Given the description of an element on the screen output the (x, y) to click on. 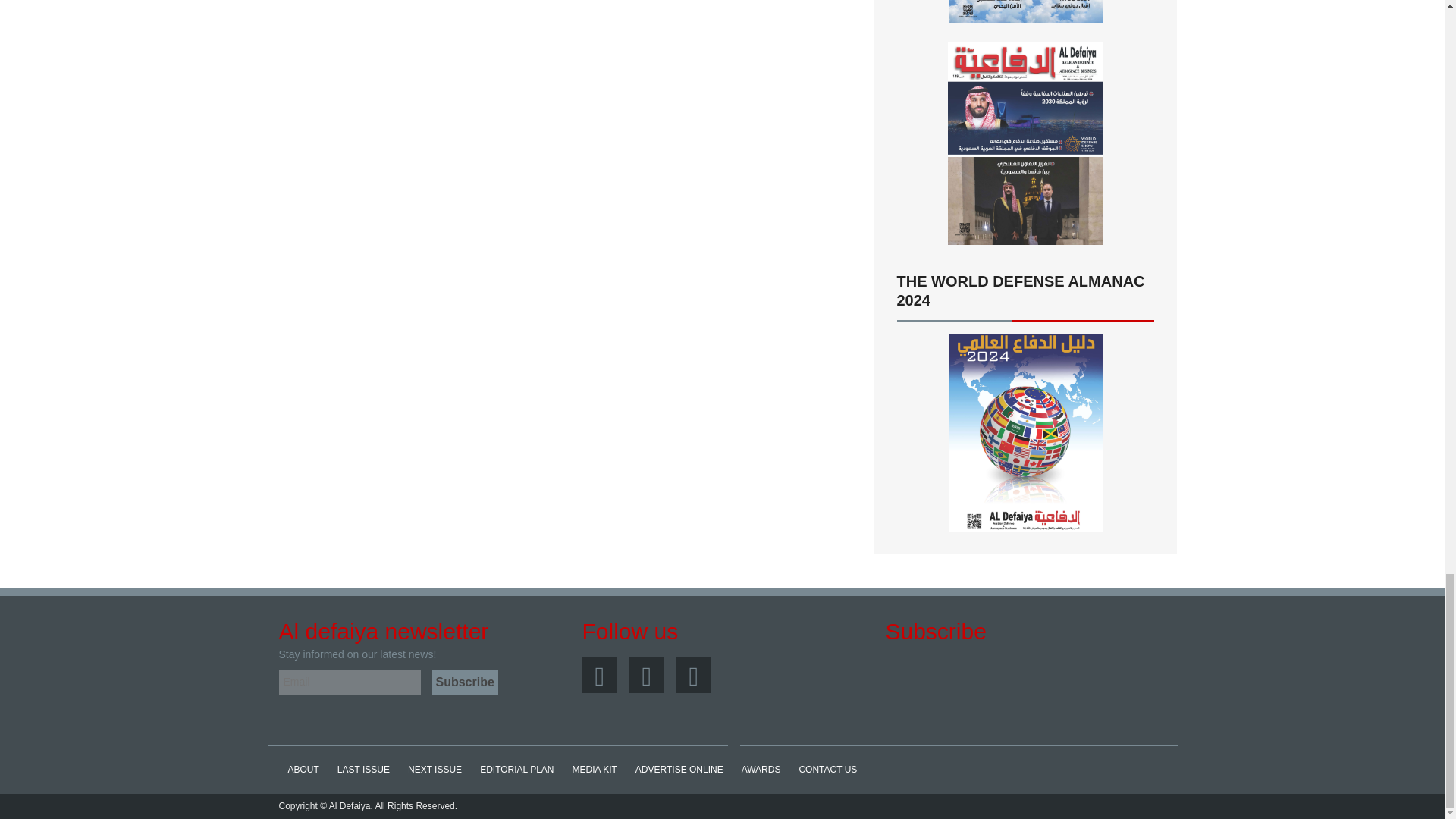
Subscribe (464, 682)
